Given the description of an element on the screen output the (x, y) to click on. 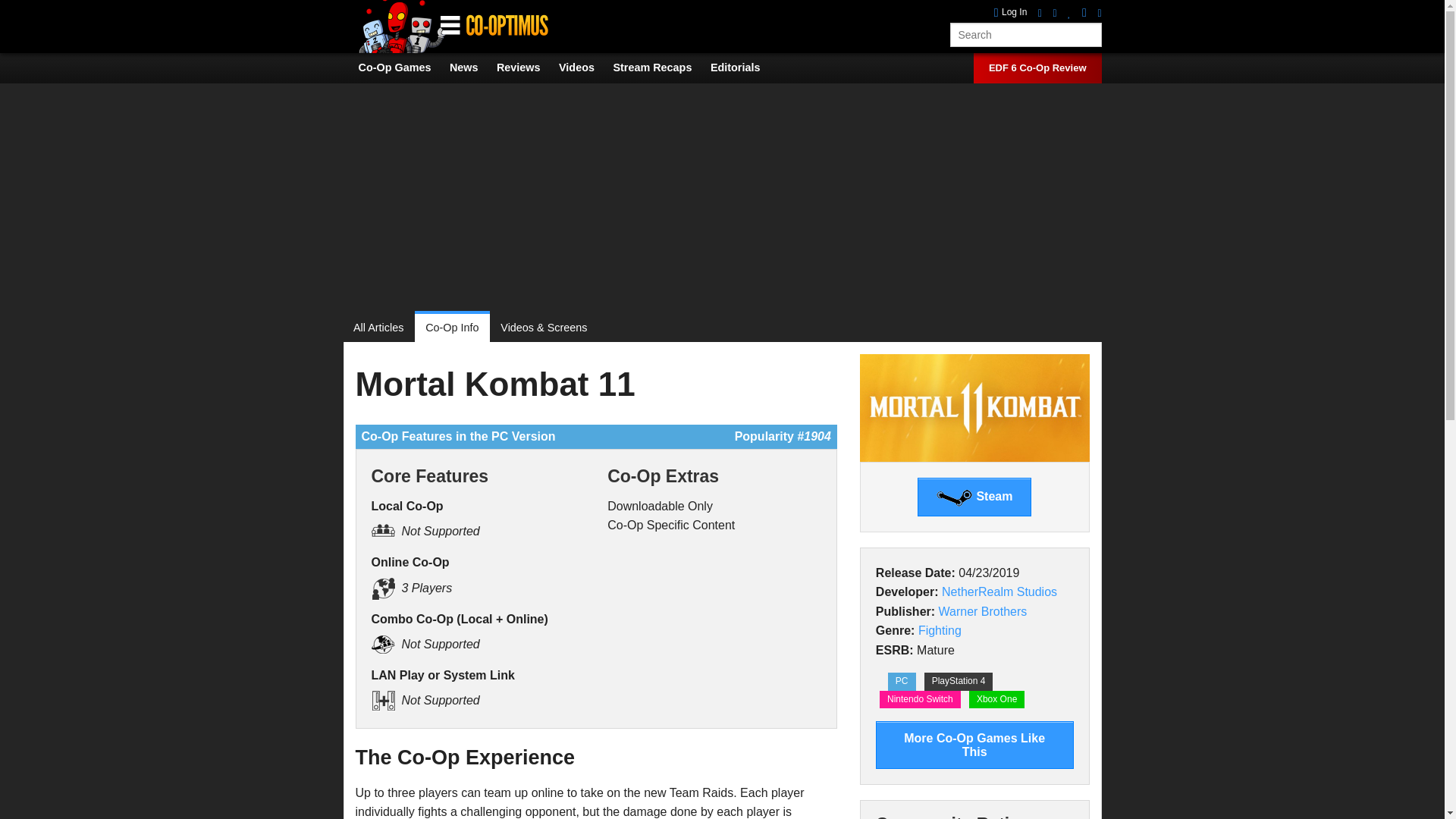
News (471, 67)
All Articles (383, 327)
Weekly Video Streams and VODs from Co-Optimus (659, 67)
login (1010, 11)
EDF 6 Co-Op Review (1037, 67)
Co-Op Games (401, 67)
Steam (973, 496)
Editorials (743, 67)
Videos (584, 67)
Co-Op Info (451, 327)
Date in which the game was first playable in co-op (915, 572)
Reviews (526, 67)
 Log In (1010, 11)
Stream Recaps (659, 67)
